Given the description of an element on the screen output the (x, y) to click on. 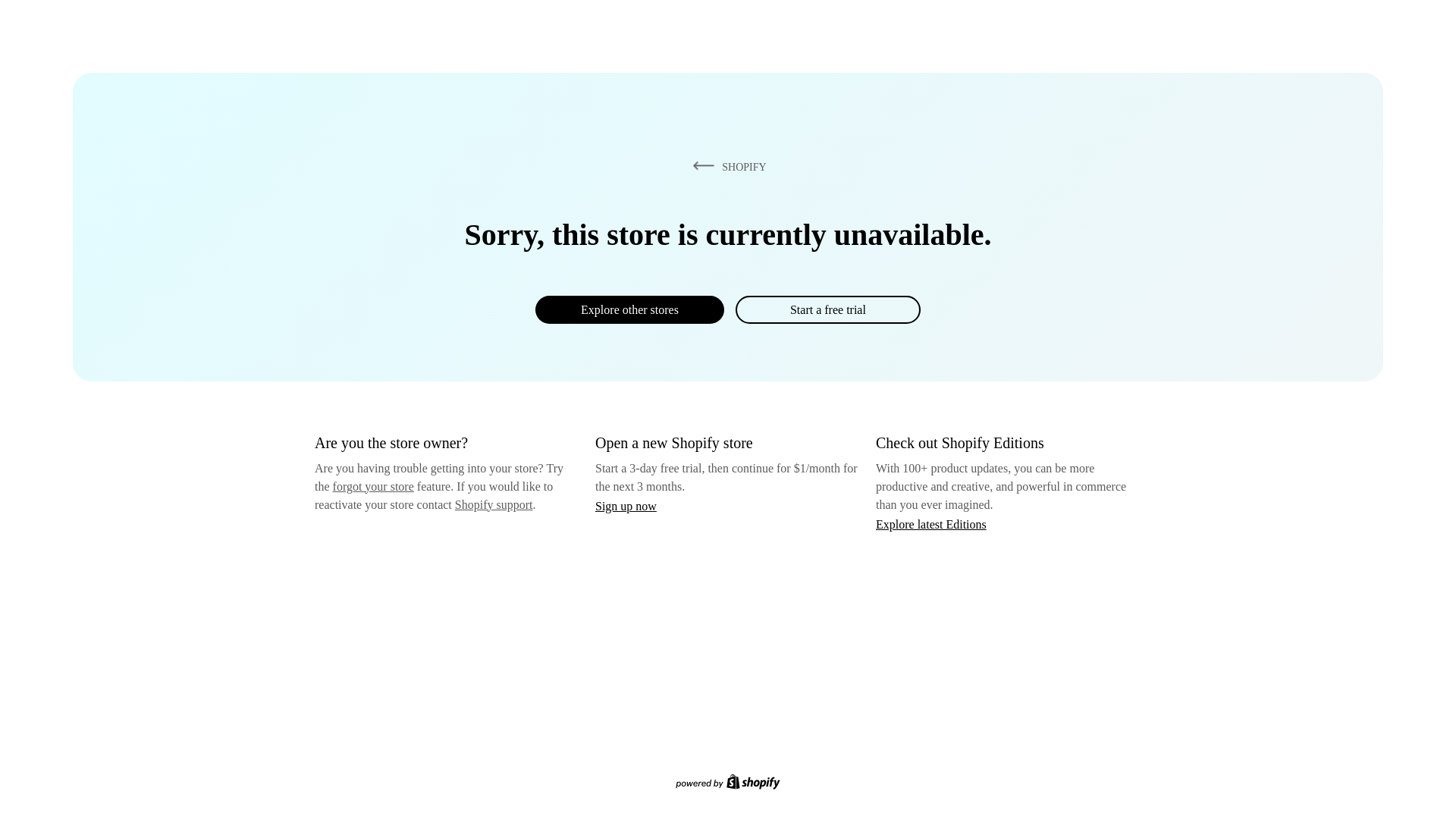
SHOPIFY (726, 166)
Shopify support (493, 504)
Explore latest Editions (931, 523)
forgot your store (373, 486)
Sign up now (625, 505)
Start a free trial (827, 309)
Explore other stores (629, 309)
